Given the description of an element on the screen output the (x, y) to click on. 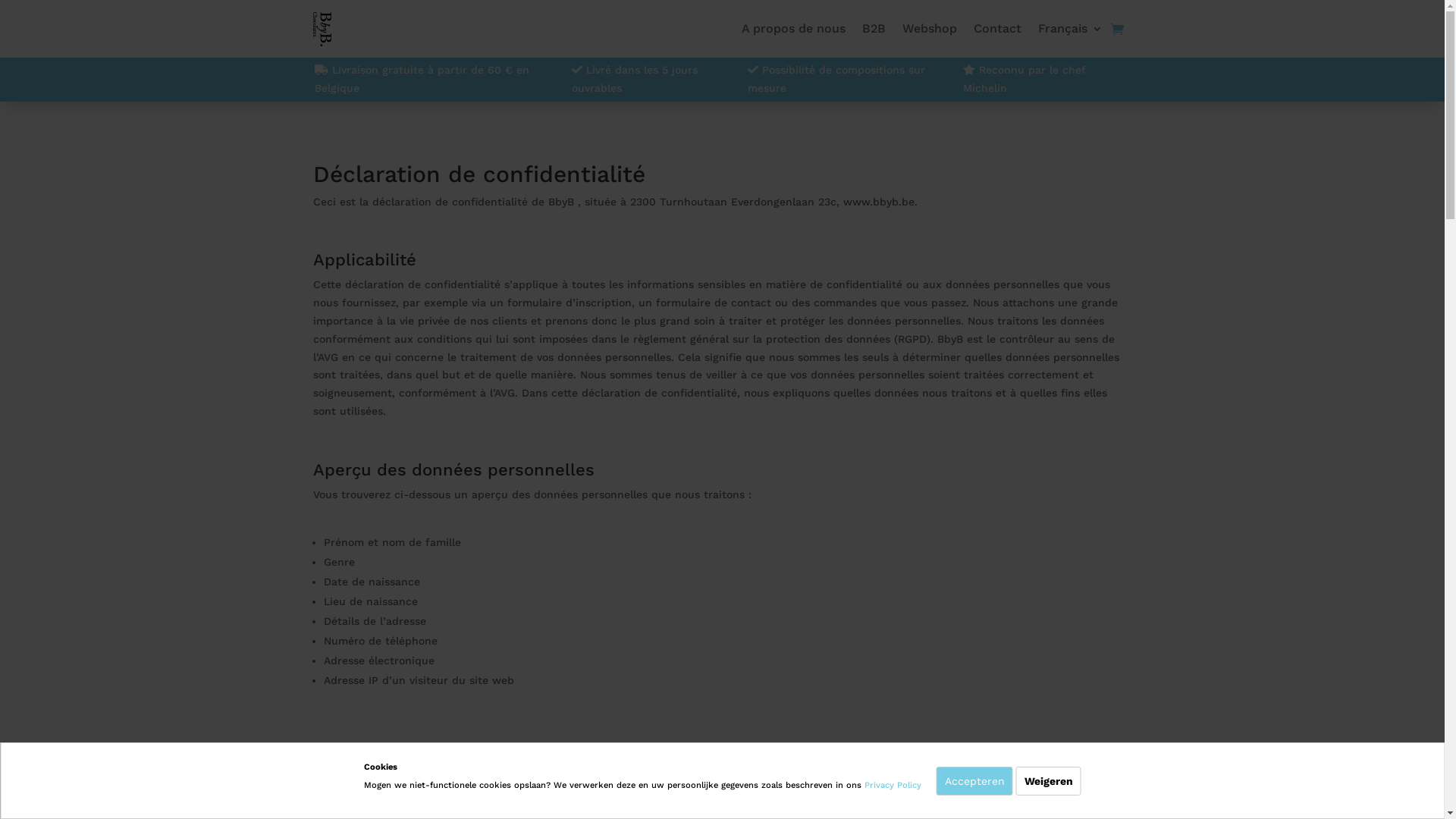
Webshop Element type: text (929, 28)
Privacy Policy Element type: text (892, 785)
Weigeren Element type: text (1048, 780)
A propos de nous Element type: text (793, 28)
B2B Element type: text (872, 28)
Accepteren Element type: text (973, 780)
Contact Element type: text (997, 28)
